Given the description of an element on the screen output the (x, y) to click on. 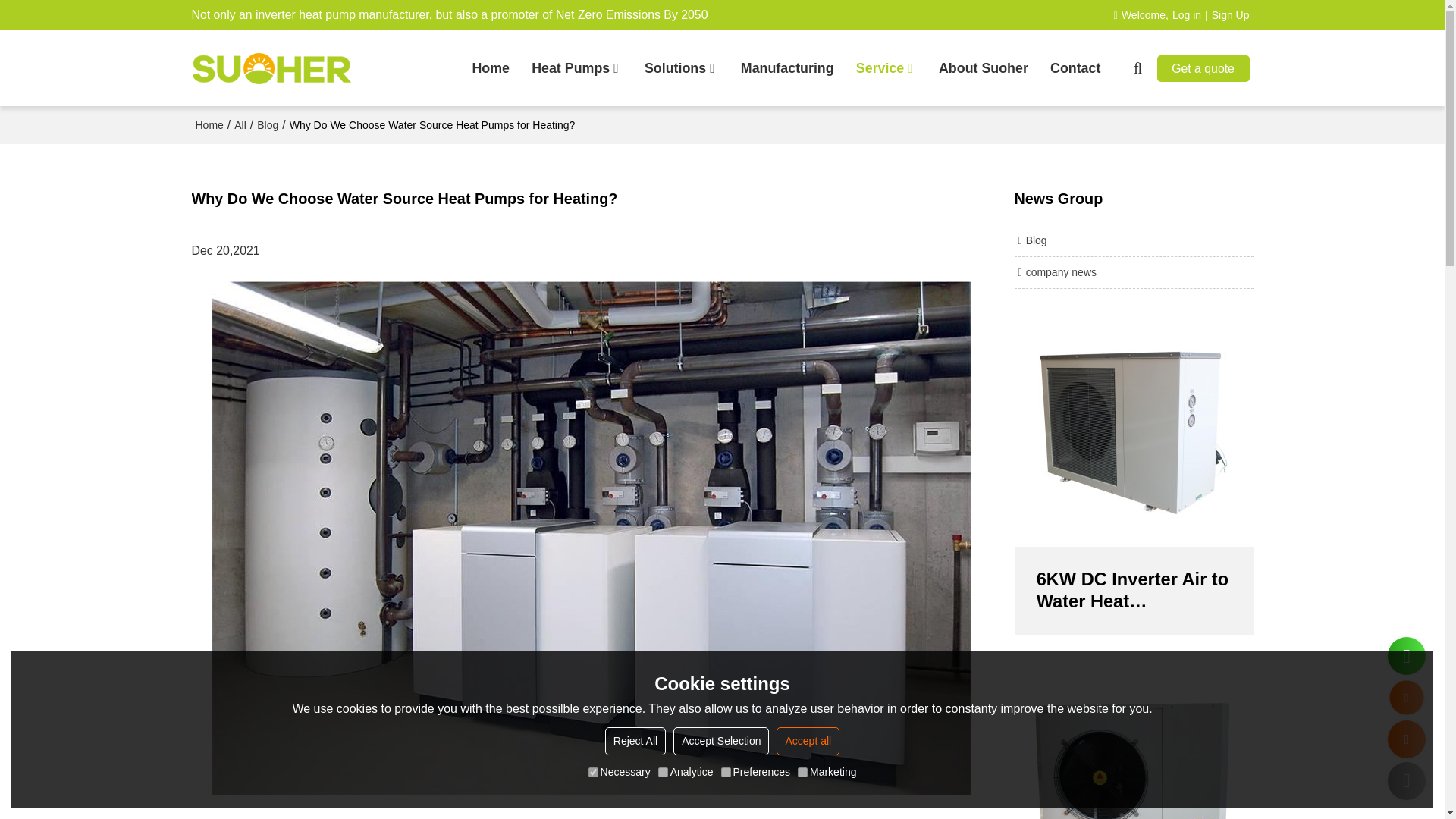
Solutions (682, 68)
Foshan Suoher Electrical Appliance Co., Ltd (270, 67)
Blog (1133, 240)
Heat Pumps (577, 68)
Log in (1186, 14)
Manufacturing (787, 68)
Service (886, 68)
All (240, 124)
on (725, 772)
Manufacturing (787, 68)
Home (209, 124)
About Suoher (983, 68)
Contact (1074, 68)
Home (490, 68)
on (802, 772)
